Given the description of an element on the screen output the (x, y) to click on. 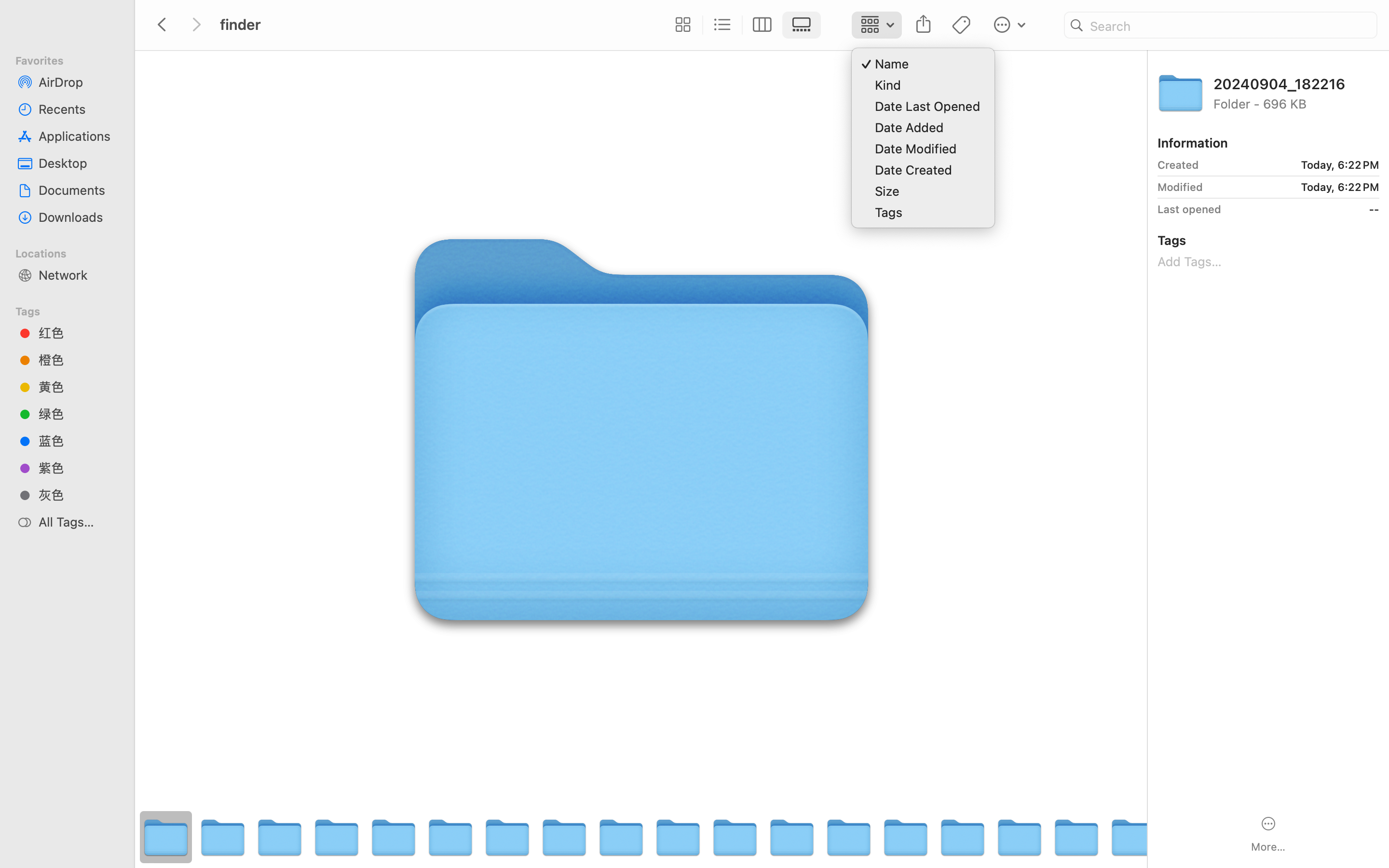
20240904_182216 Element type: AXStaticText (1296, 82)
Information Element type: AXStaticText (1192, 142)
紫色 Element type: AXStaticText (77, 467)
-- Element type: AXStaticText (1303, 209)
黄色 Element type: AXStaticText (77, 386)
